Given the description of an element on the screen output the (x, y) to click on. 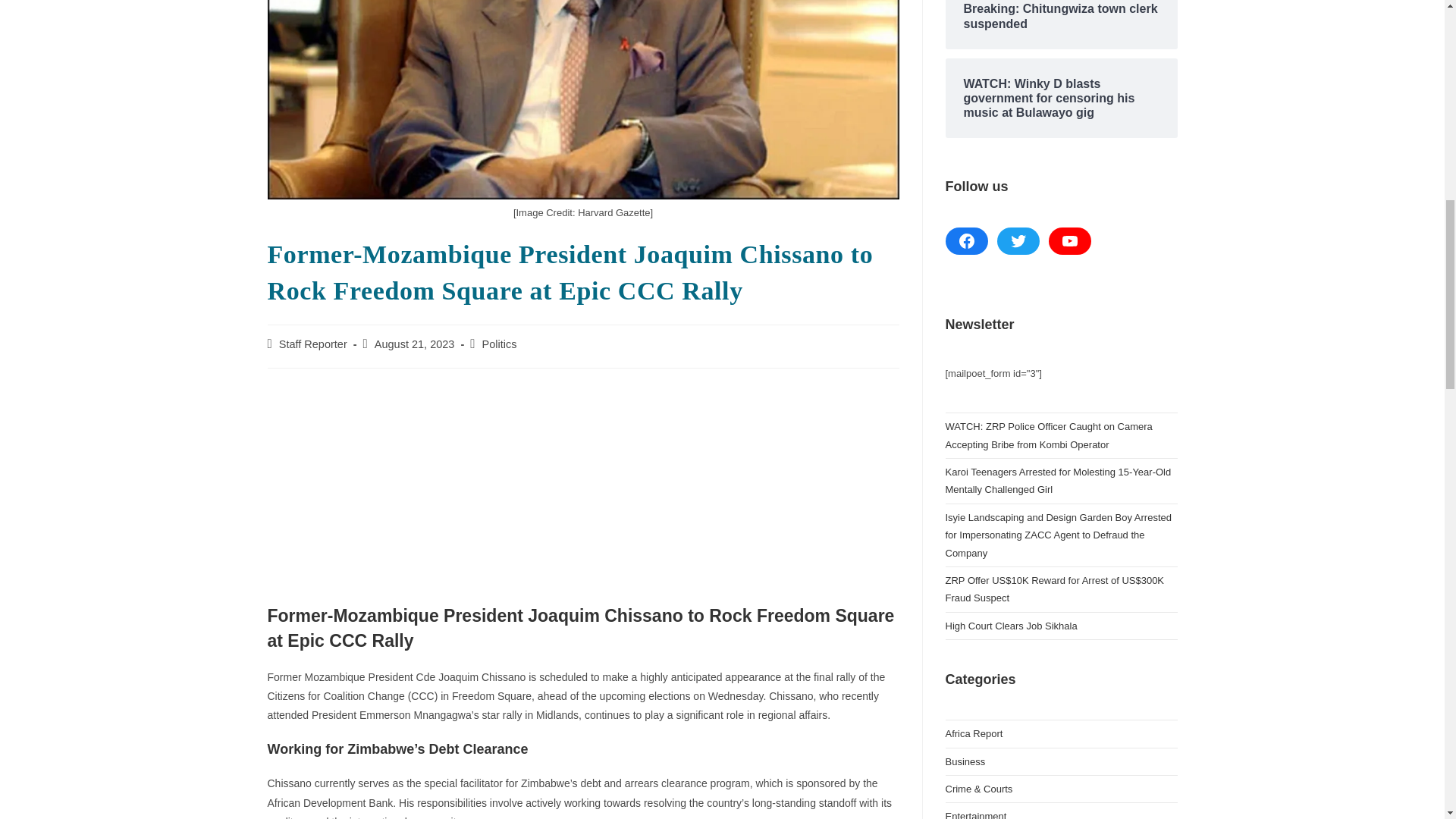
Posts by Staff Reporter (313, 344)
Advertisement (582, 490)
